Given the description of an element on the screen output the (x, y) to click on. 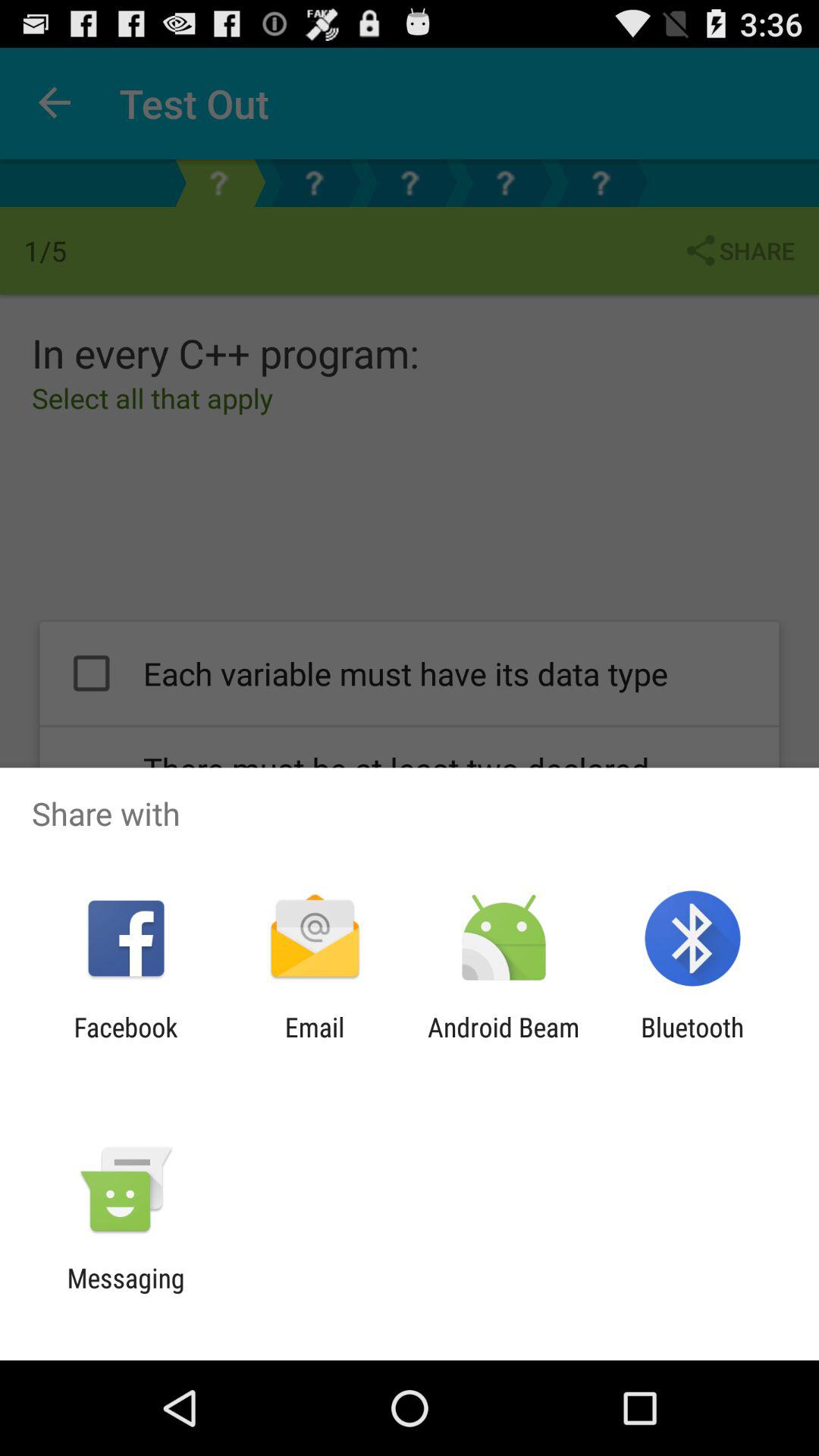
tap email (314, 1042)
